Given the description of an element on the screen output the (x, y) to click on. 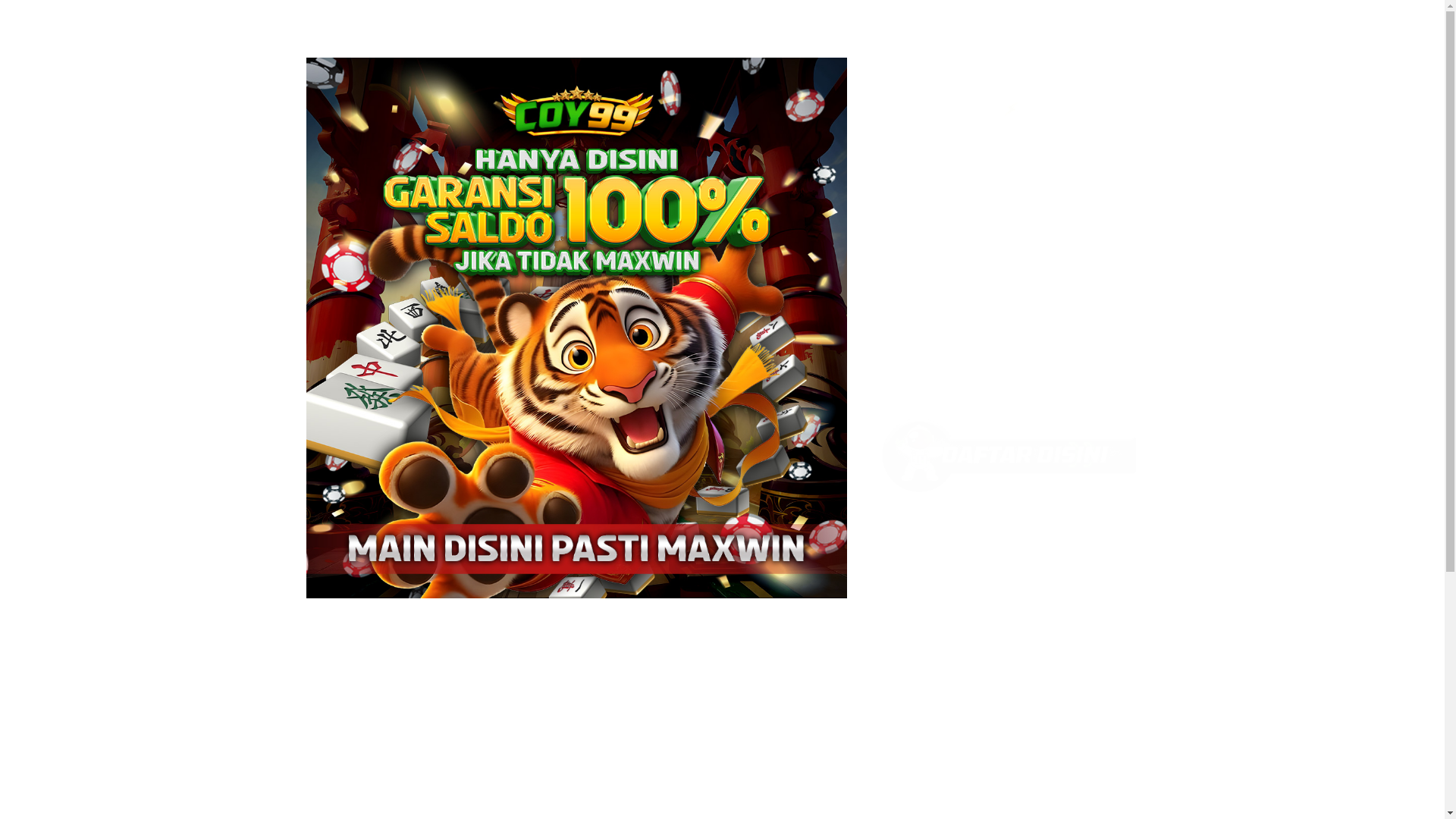
Skip to content (45, 17)
DAFTAR COY99 (1007, 137)
LOGIN COY99 (914, 137)
spaceman (907, 712)
Register for Gacor's Spaceman Game Today (722, 14)
spaceman slot (1008, 492)
LIVECHAT COY99 (1104, 137)
Skip to product information (350, 73)
REGISTER (1007, 137)
LOGIN (914, 137)
LIVECHAT (1104, 137)
spaceman slot (919, 525)
